Given the description of an element on the screen output the (x, y) to click on. 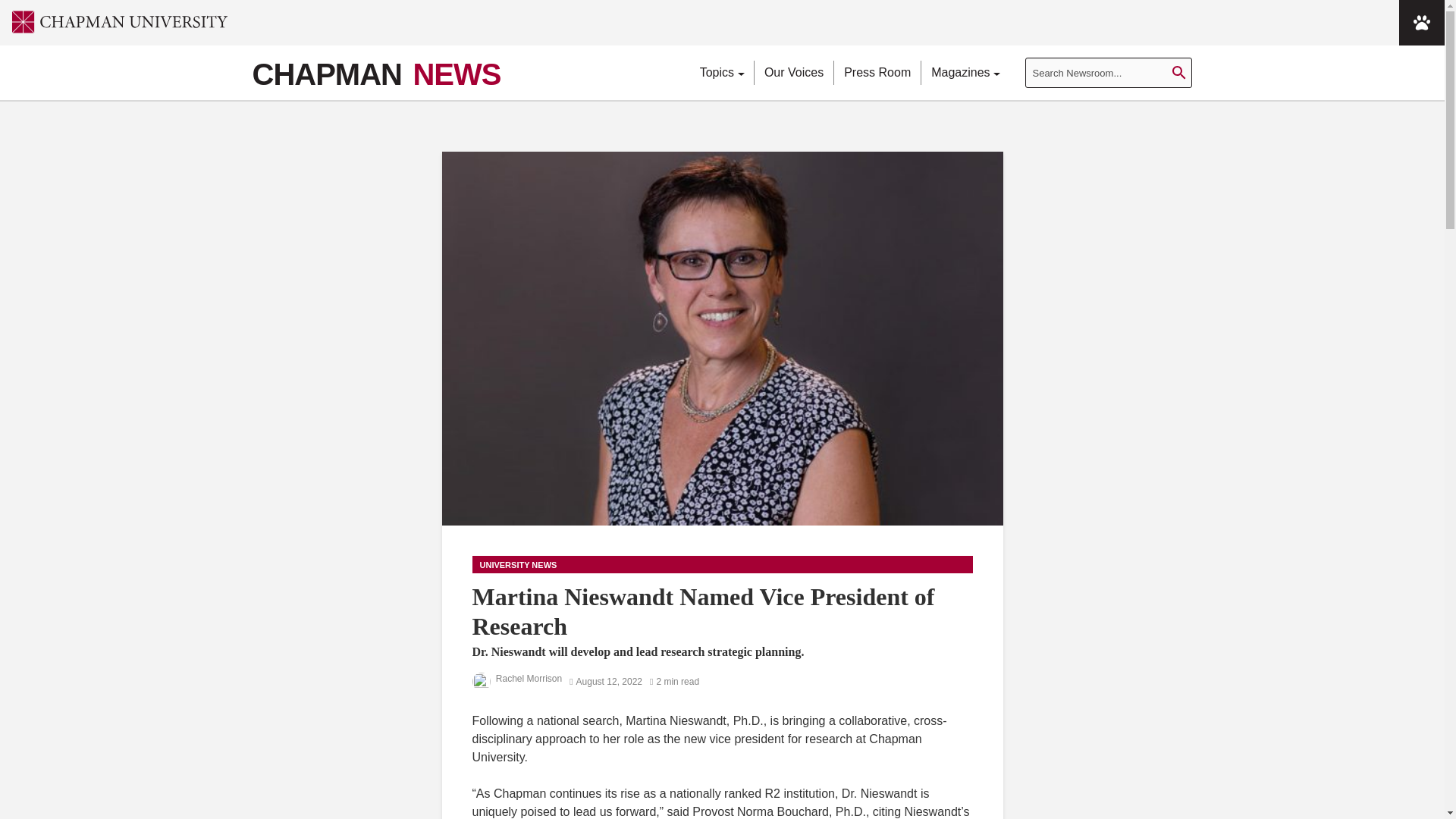
Chapman University Website Home Page (113, 21)
